Given the description of an element on the screen output the (x, y) to click on. 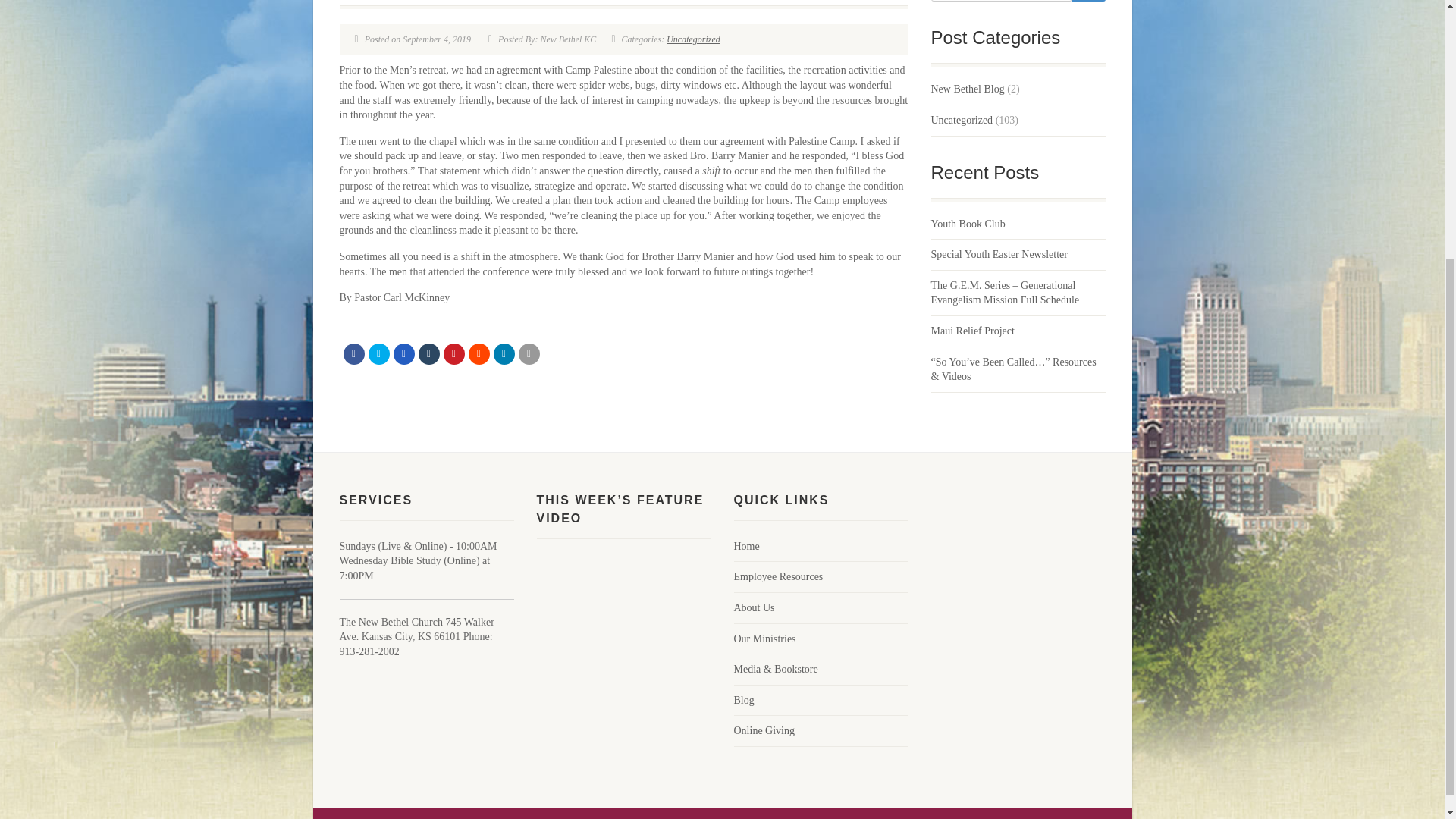
Share on Facebook (353, 353)
Submit to Reddit (478, 353)
Pin it (453, 353)
Post to Tumblr (429, 353)
Share on Linkedin (503, 353)
Email (529, 353)
Tweet (379, 353)
